Given the description of an element on the screen output the (x, y) to click on. 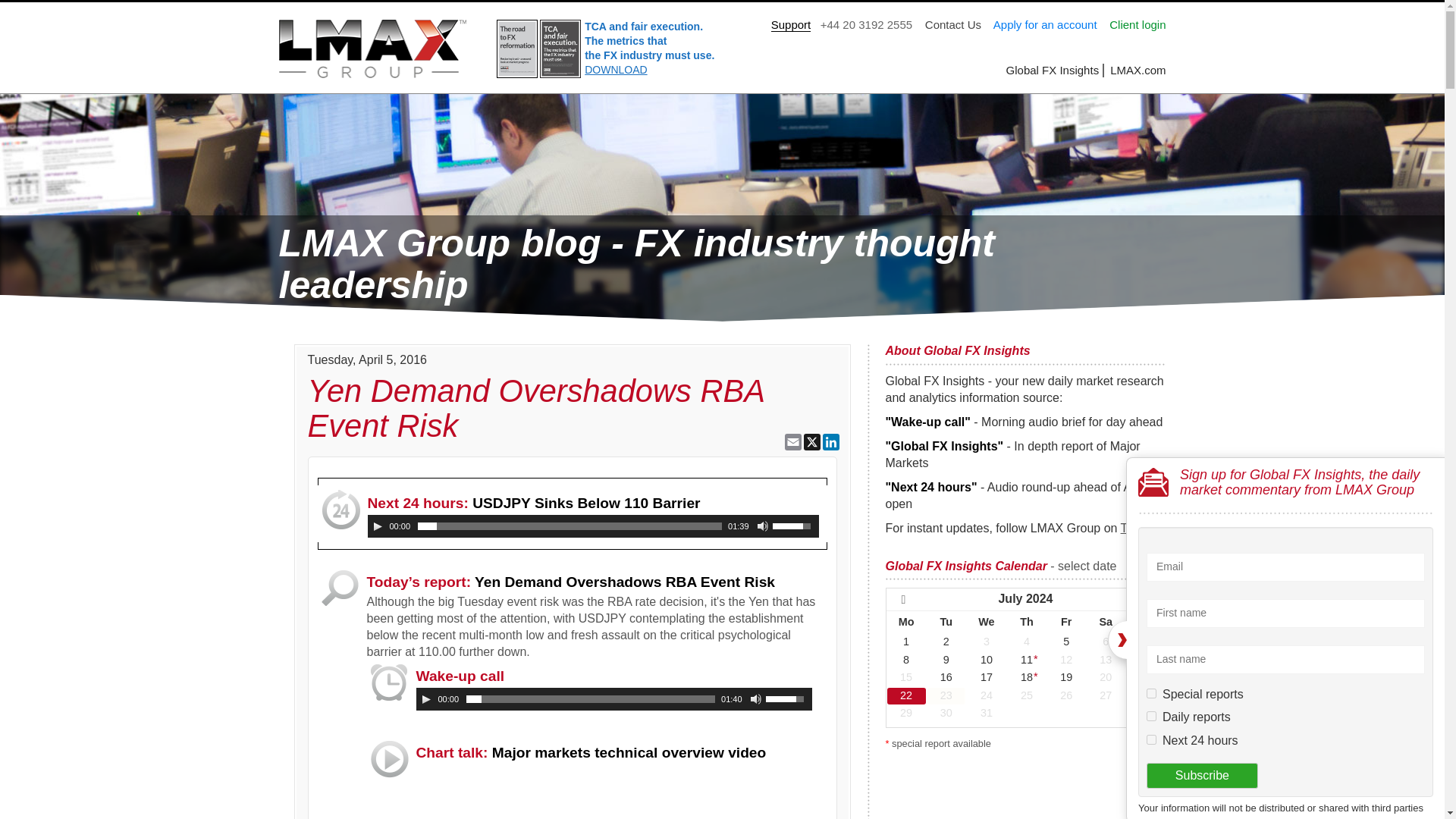
Next (1138, 601)
true (1151, 693)
Support (790, 24)
LMAX Exchange homepage (1137, 69)
DOWNLOAD (615, 69)
Mute Toggle (762, 526)
true (1151, 739)
Apply for an account (1044, 24)
Global FX Insights (1054, 69)
LMAX.com (1137, 69)
Prev (912, 601)
Client login (1137, 24)
true (1151, 716)
Subscribe (1202, 775)
Mute Toggle (755, 698)
